Given the description of an element on the screen output the (x, y) to click on. 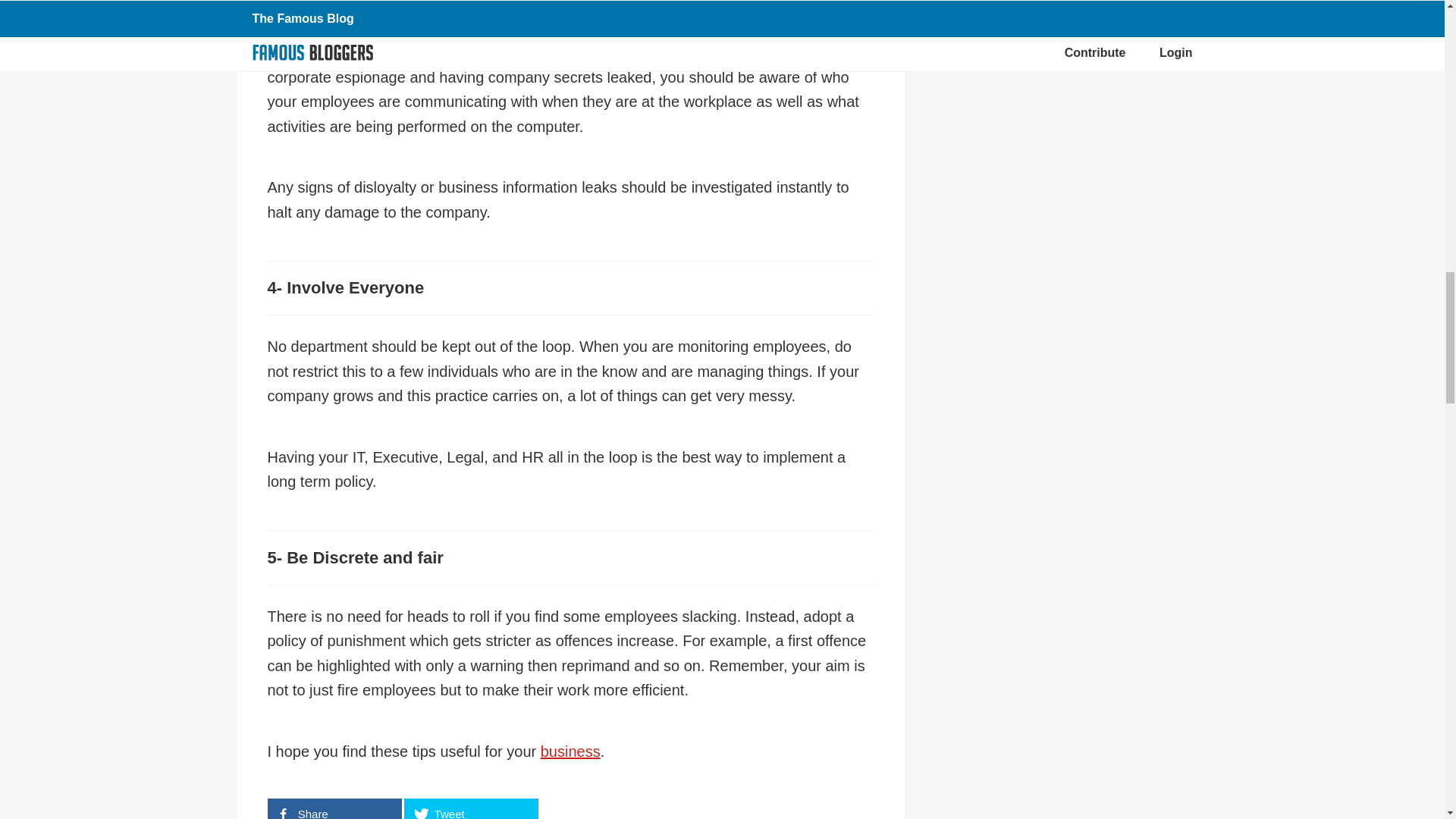
business (569, 751)
Tweet (470, 808)
Share (333, 808)
business (569, 751)
